Given the description of an element on the screen output the (x, y) to click on. 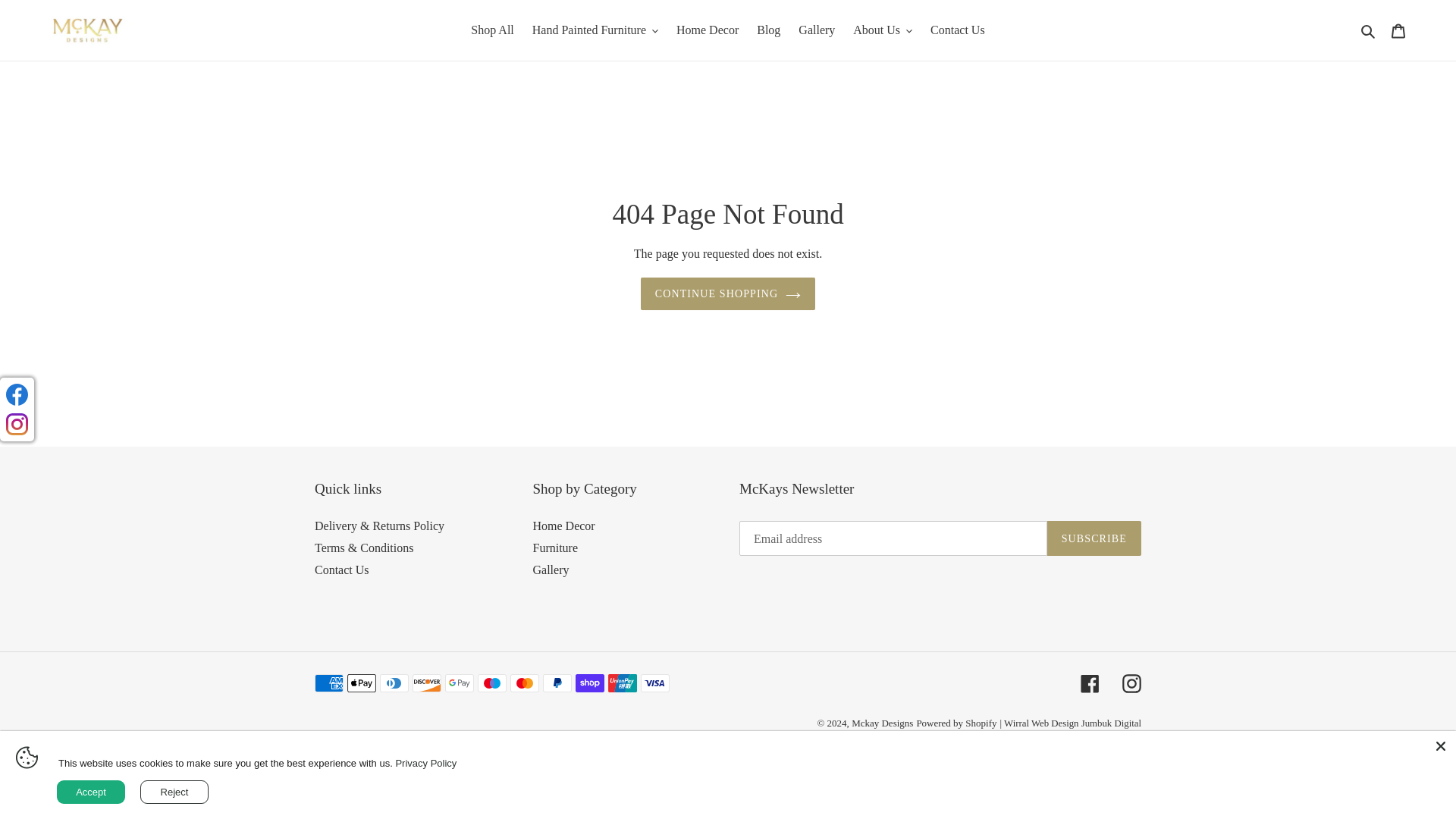
Contact Us (957, 29)
About Us (882, 29)
Shop All (492, 29)
Cart (1397, 29)
Search (1368, 30)
Blog (768, 29)
Hand Painted Furniture (594, 29)
Home Decor (706, 29)
Gallery (816, 29)
